Given the description of an element on the screen output the (x, y) to click on. 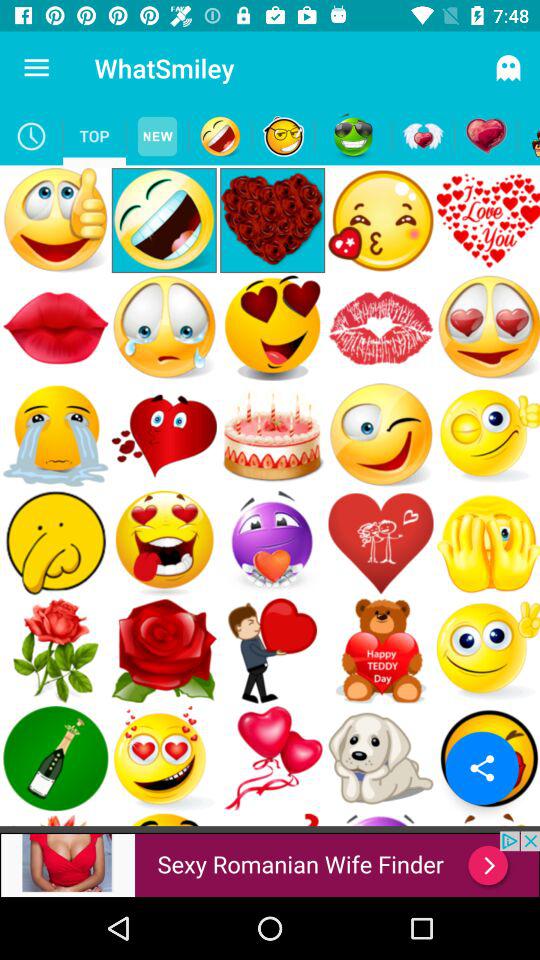
smiley button (353, 136)
